Given the description of an element on the screen output the (x, y) to click on. 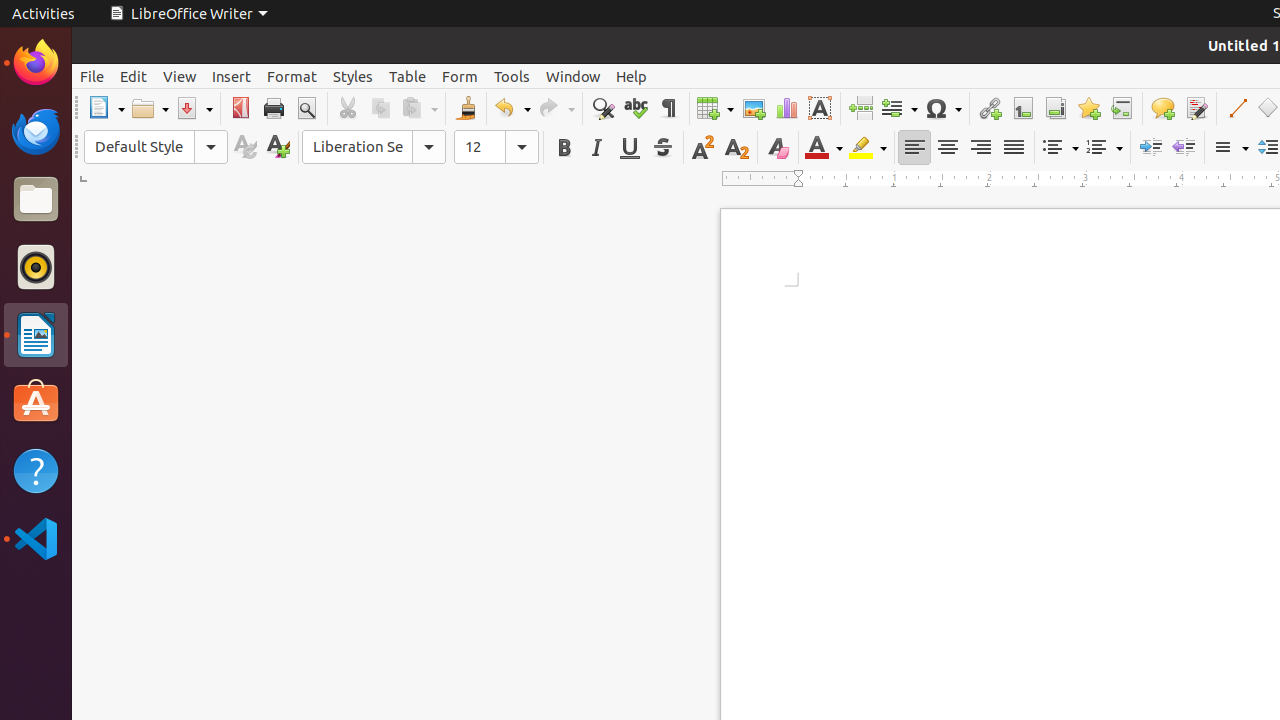
Justified Element type: toggle-button (1013, 147)
Ubuntu Software Element type: push-button (36, 402)
Image Element type: push-button (753, 108)
View Element type: menu (179, 76)
